Given the description of an element on the screen output the (x, y) to click on. 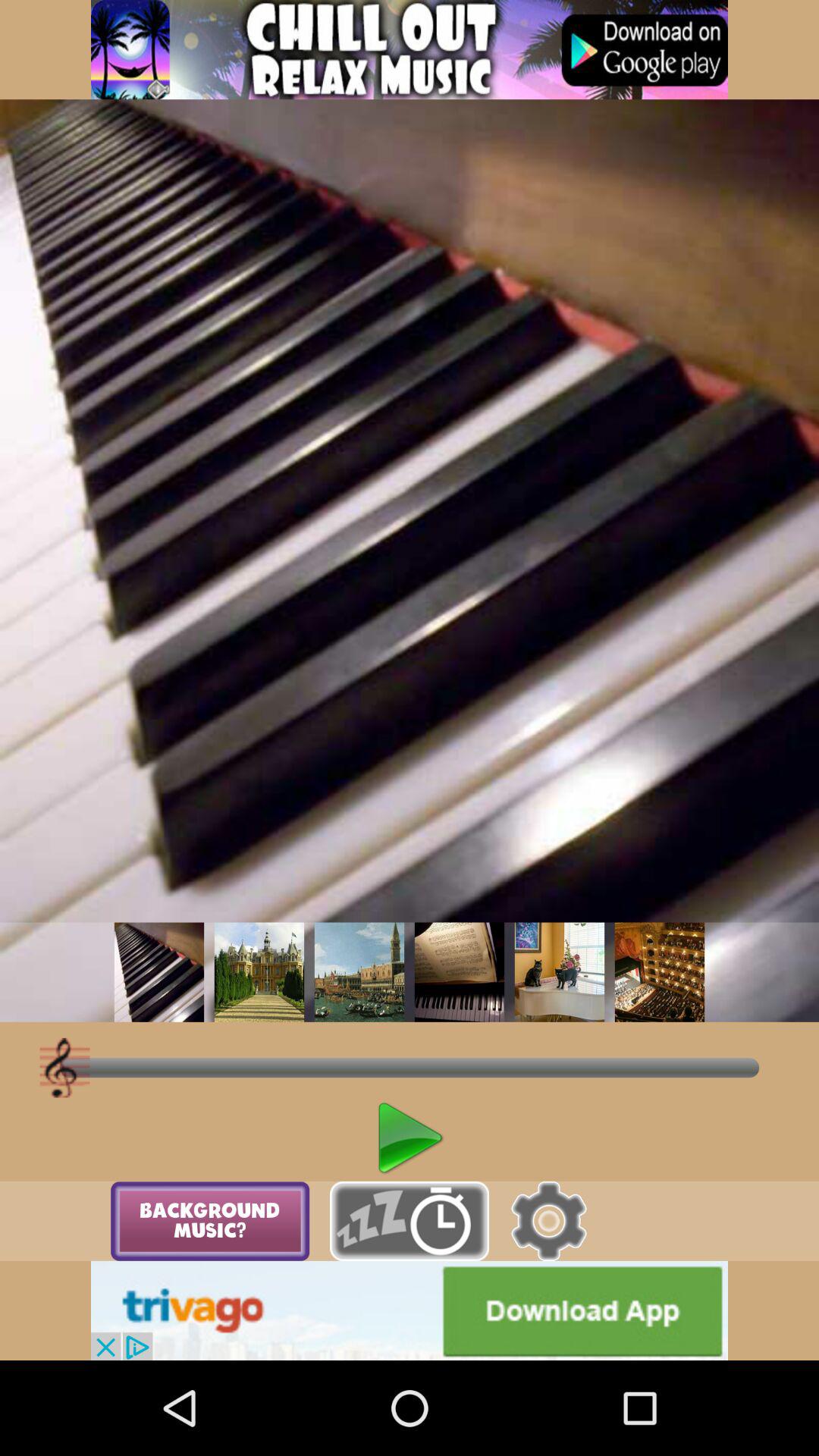
open advertisement (409, 49)
